Given the description of an element on the screen output the (x, y) to click on. 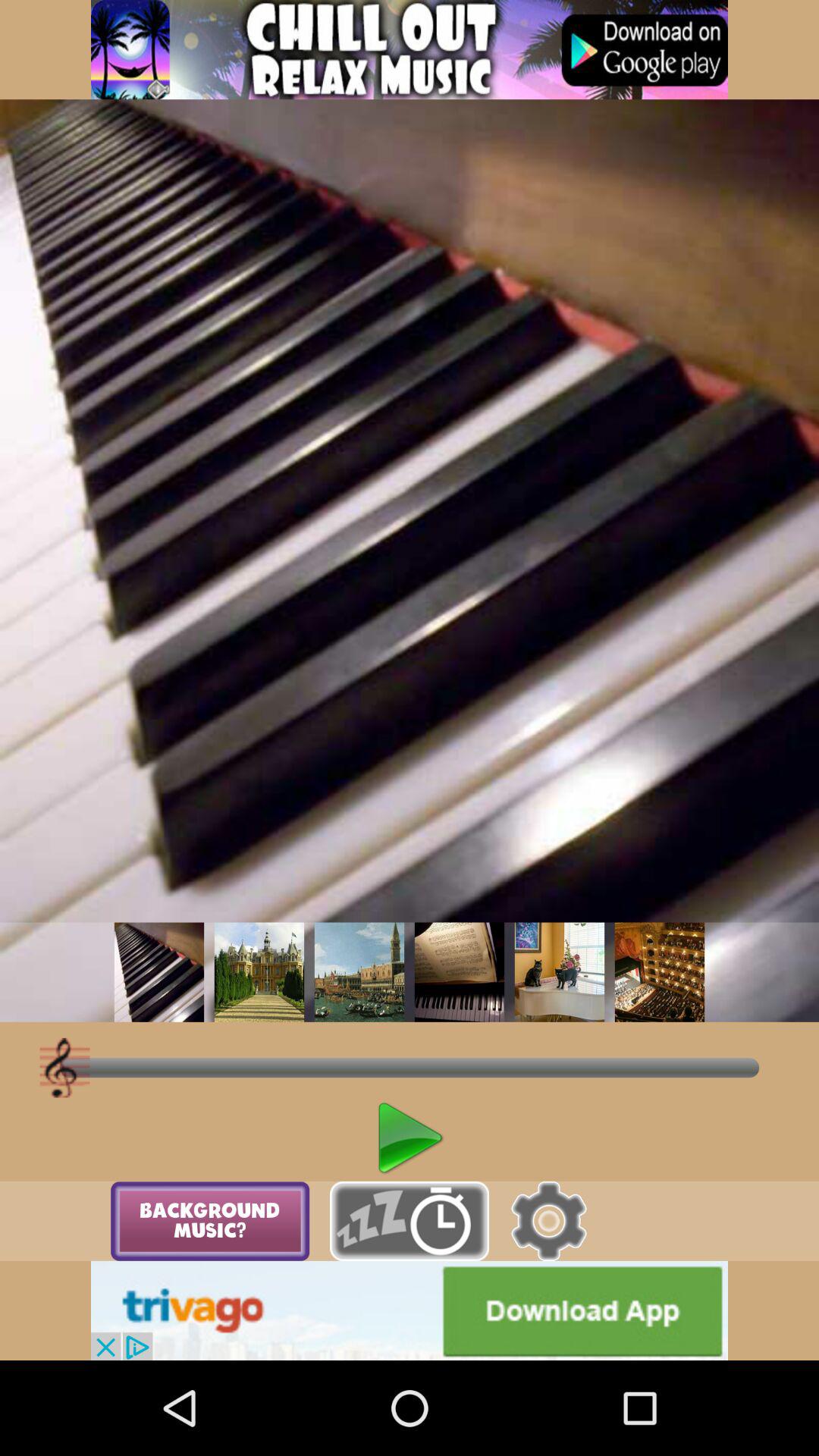
open advertisement (409, 49)
